Given the description of an element on the screen output the (x, y) to click on. 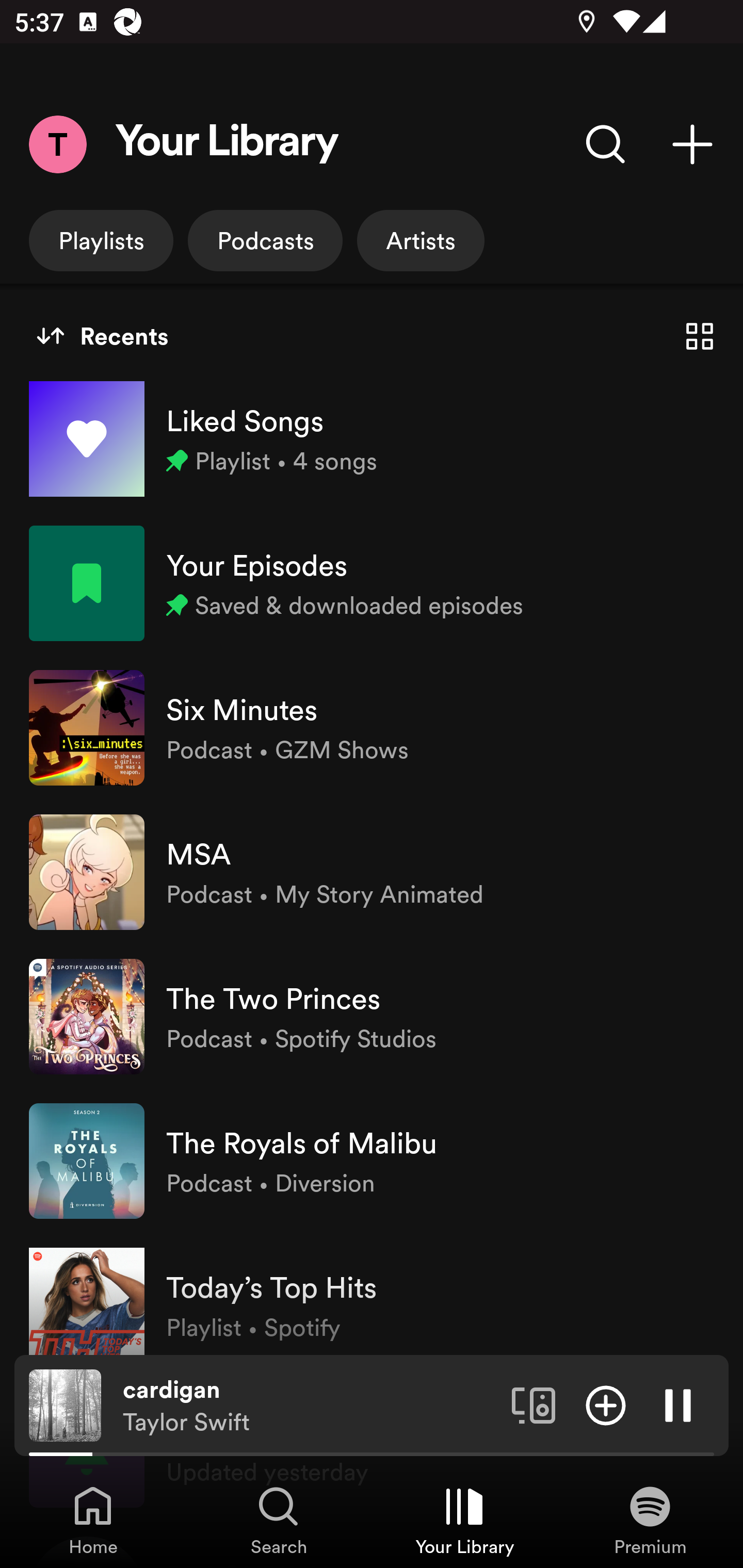
Menu (57, 144)
Search Your Library (605, 144)
Create playlist (692, 144)
Your Library Your Library Heading (226, 144)
Playlists, show only playlists. (100, 240)
Podcasts, show only podcasts. (264, 240)
Artists, show only artists. (420, 240)
Recents (101, 336)
Show Grid view (699, 336)
cardigan Taylor Swift (309, 1405)
The cover art of the currently playing track (64, 1404)
Connect to a device. Opens the devices menu (533, 1404)
Add item (605, 1404)
Pause (677, 1404)
Home, Tab 1 of 4 Home Home (92, 1519)
Search, Tab 2 of 4 Search Search (278, 1519)
Your Library, Tab 3 of 4 Your Library Your Library (464, 1519)
Premium, Tab 4 of 4 Premium Premium (650, 1519)
